Given the description of an element on the screen output the (x, y) to click on. 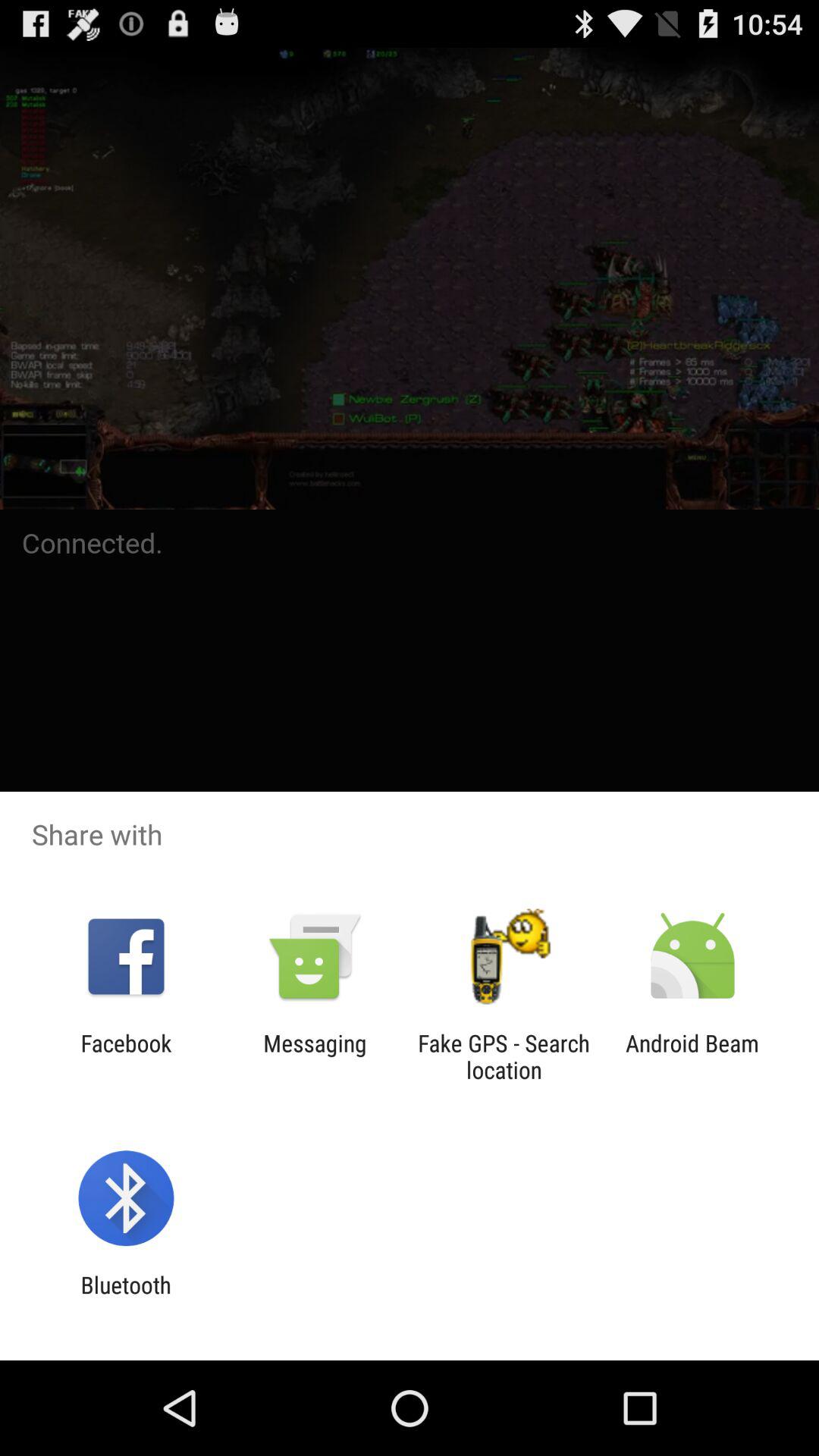
select the facebook icon (125, 1056)
